Given the description of an element on the screen output the (x, y) to click on. 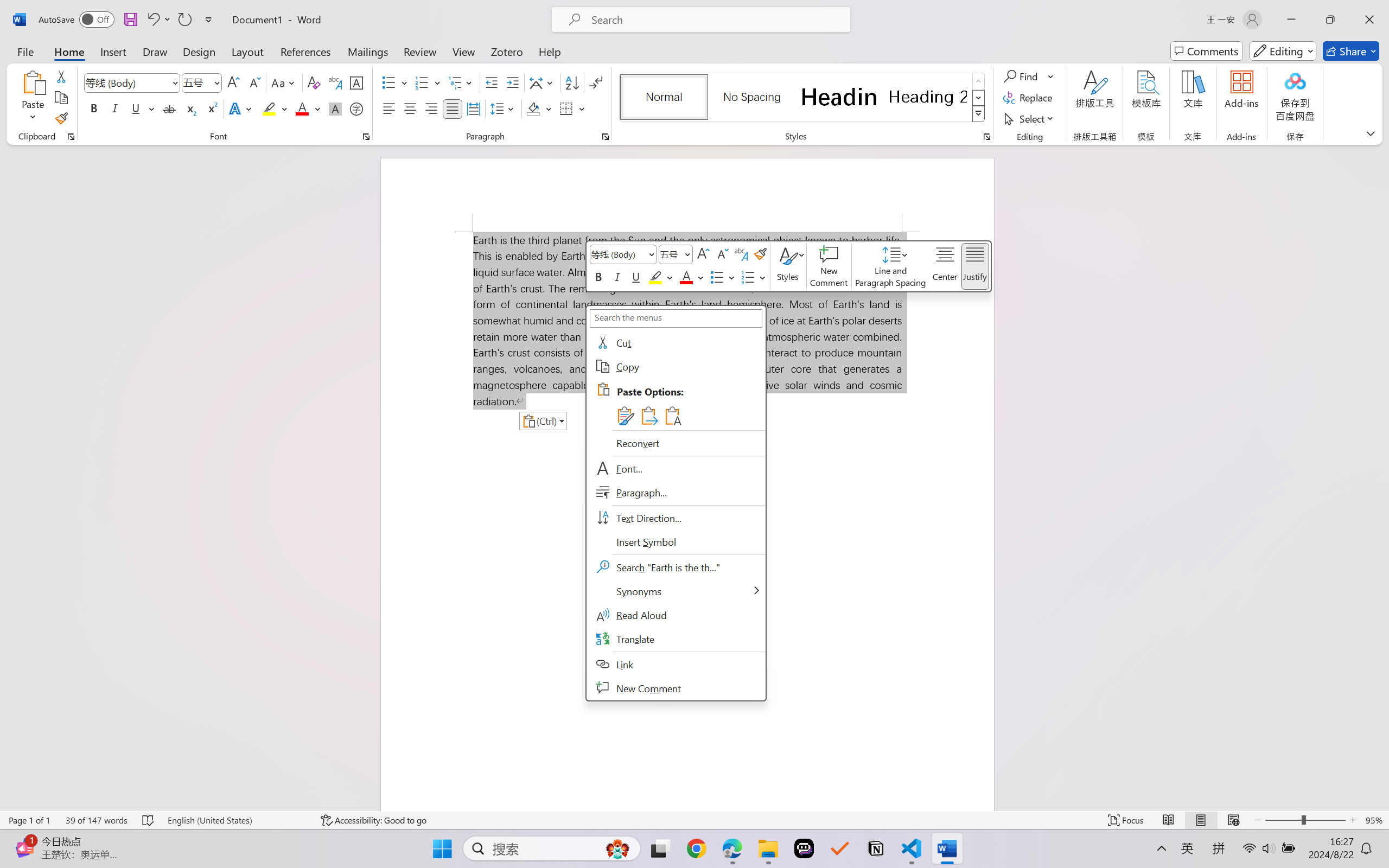
Page Number Page 1 of 1 (29, 819)
Font Color (308, 108)
Replace... (1029, 97)
Office Clipboard... (70, 136)
